Given the description of an element on the screen output the (x, y) to click on. 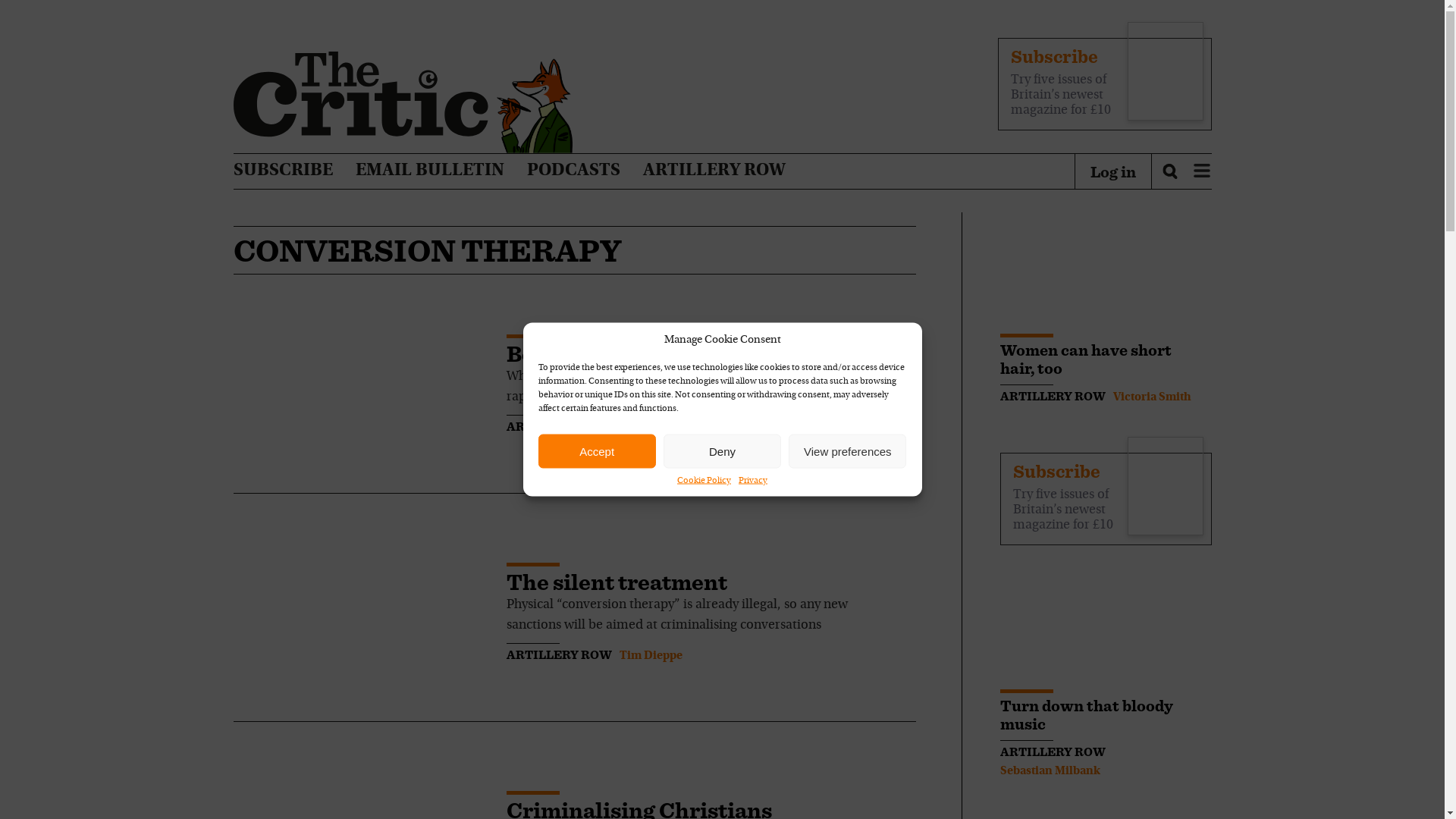
Privacy (752, 480)
View preferences (847, 450)
SUBSCRIBE (282, 171)
The silent treatment (616, 581)
Cookie Policy (703, 480)
Accept (597, 450)
Matthew Roberts (664, 427)
Posts by Victoria Smith (1152, 397)
PODCASTS (572, 171)
Posts by Tim Dieppe (649, 655)
ARTILLERY ROW (558, 426)
Posts by Sebastian Milbank (1048, 770)
ARTILLERY ROW (714, 171)
Below the belt (582, 352)
Posts by Matthew Roberts (664, 427)
